Given the description of an element on the screen output the (x, y) to click on. 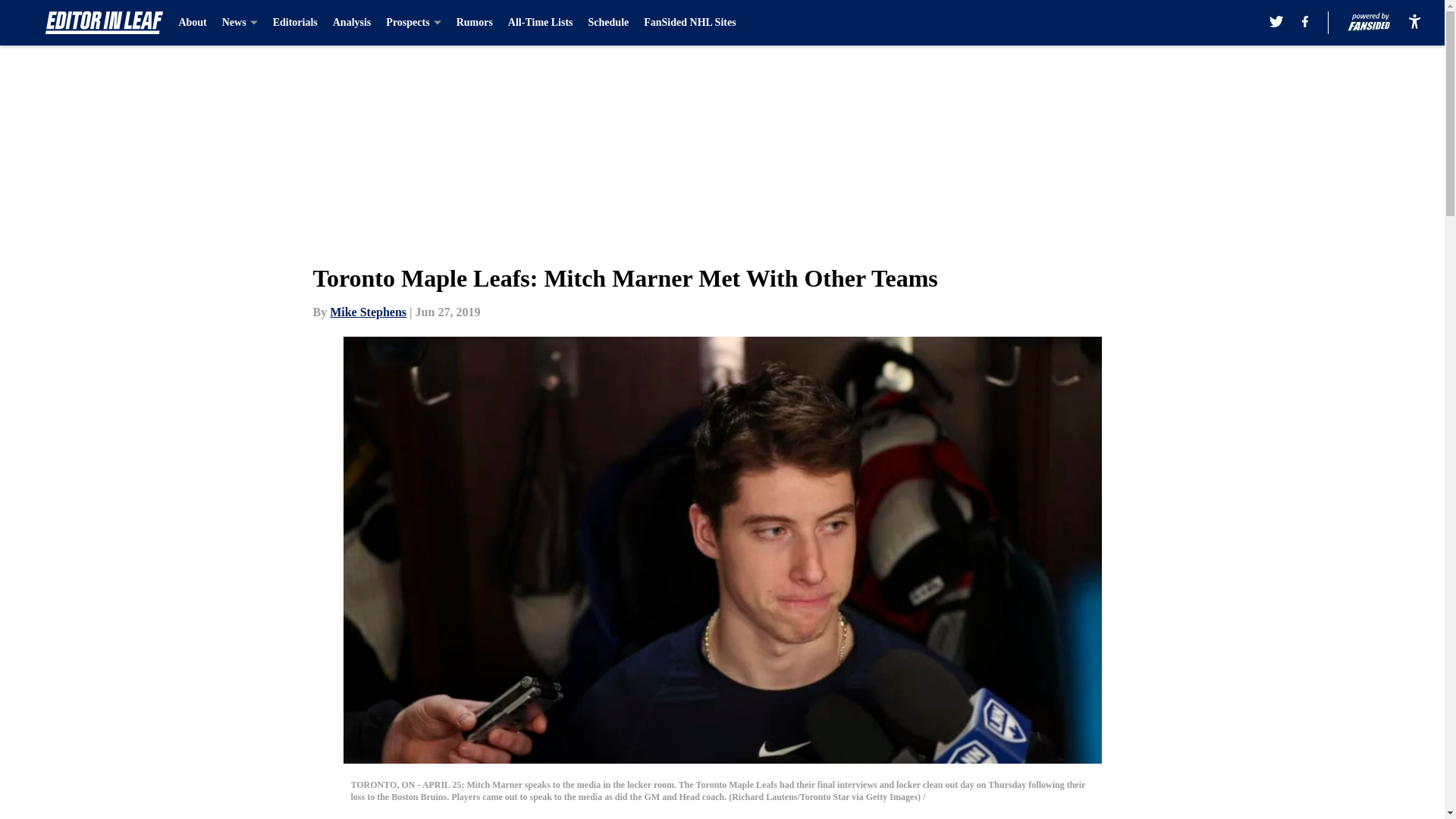
About (191, 22)
FanSided NHL Sites (689, 22)
Analysis (352, 22)
All-Time Lists (540, 22)
Schedule (608, 22)
Mike Stephens (368, 311)
Editorials (295, 22)
Rumors (475, 22)
